Given the description of an element on the screen output the (x, y) to click on. 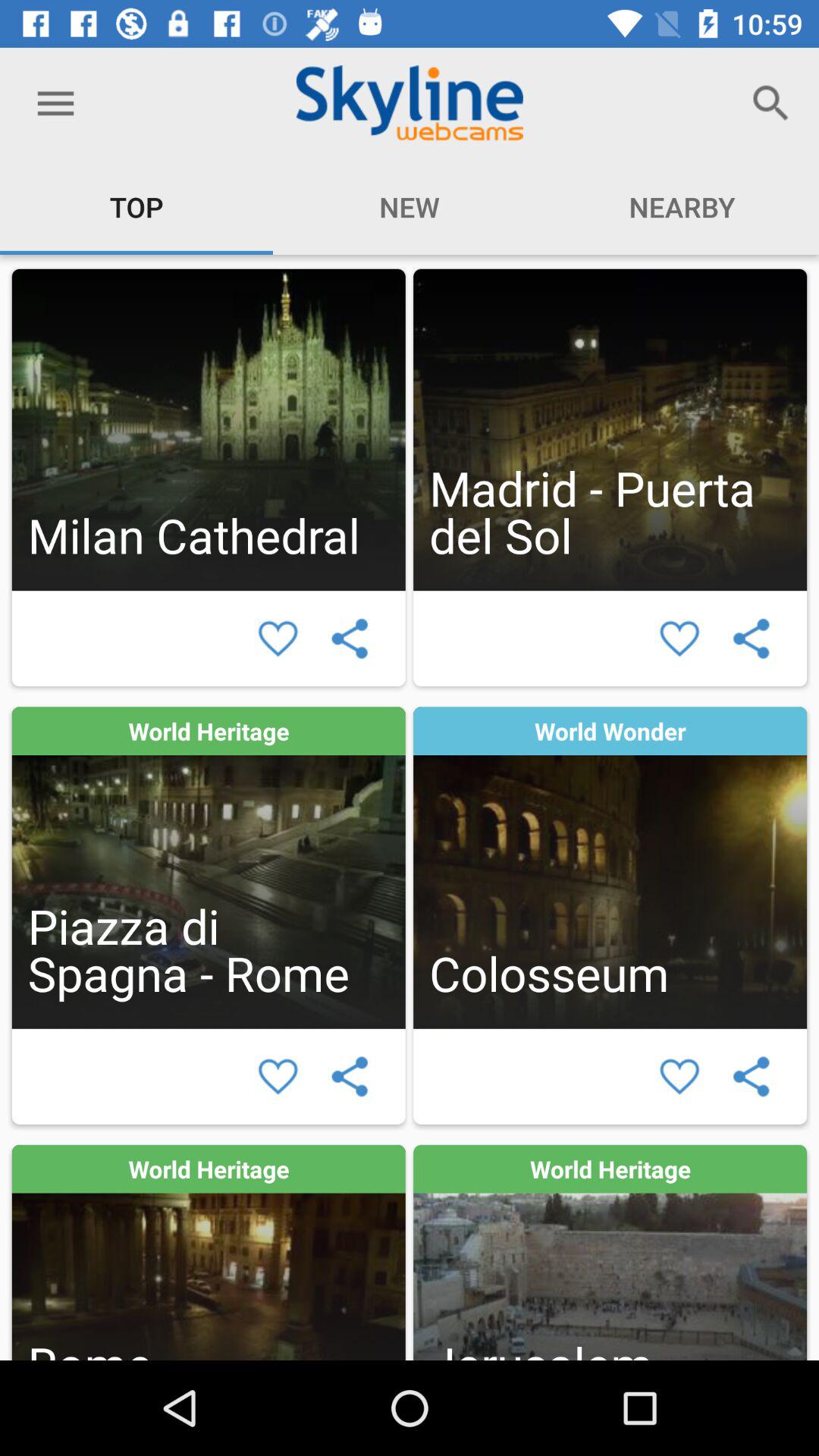
love this webcame (679, 1076)
